Given the description of an element on the screen output the (x, y) to click on. 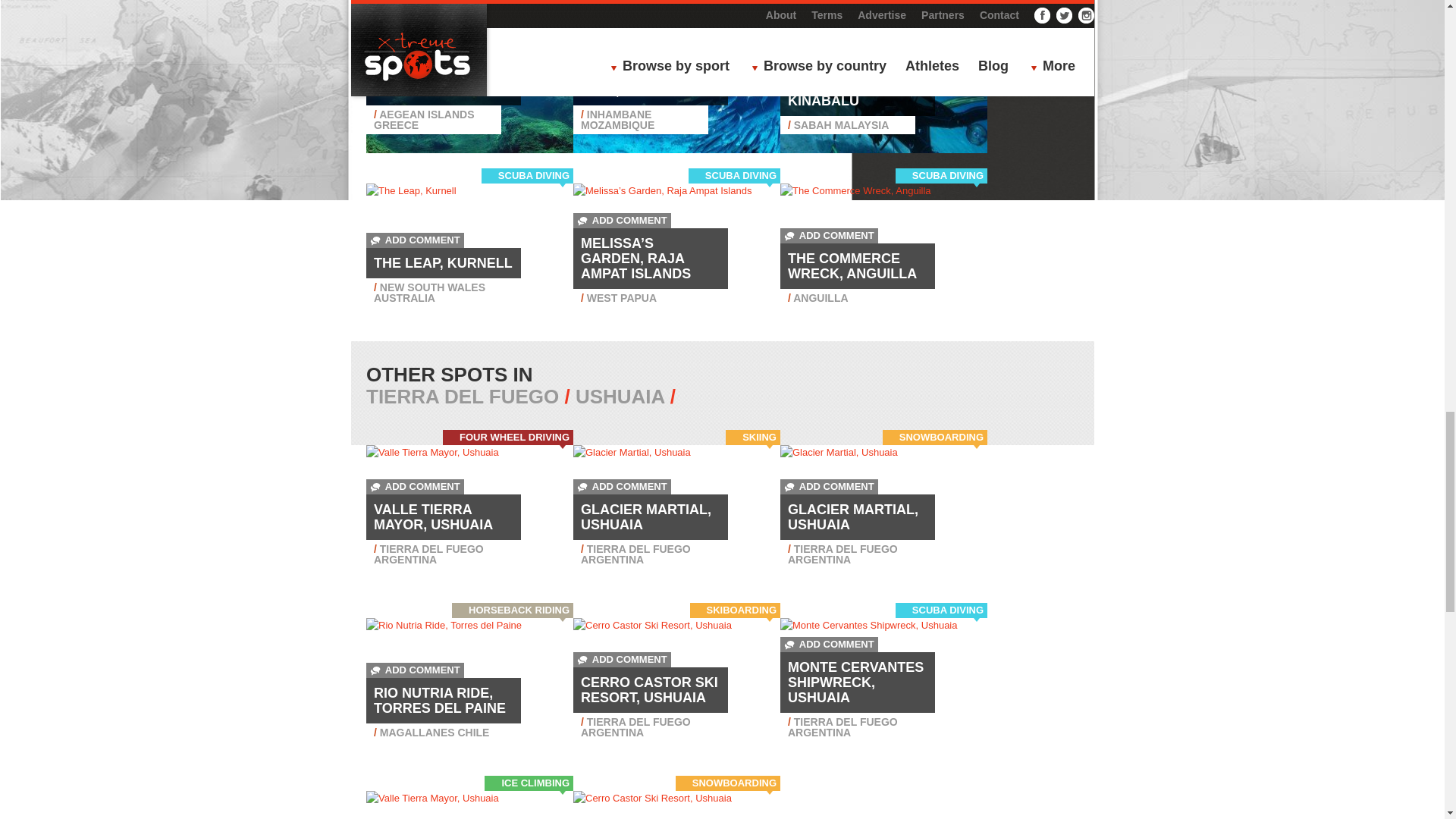
  ADD COMMENT (415, 51)
SCUBA DIVING (533, 4)
THOR STAR WRECK, PSERIMOS ISLAND (443, 82)
